Given the description of an element on the screen output the (x, y) to click on. 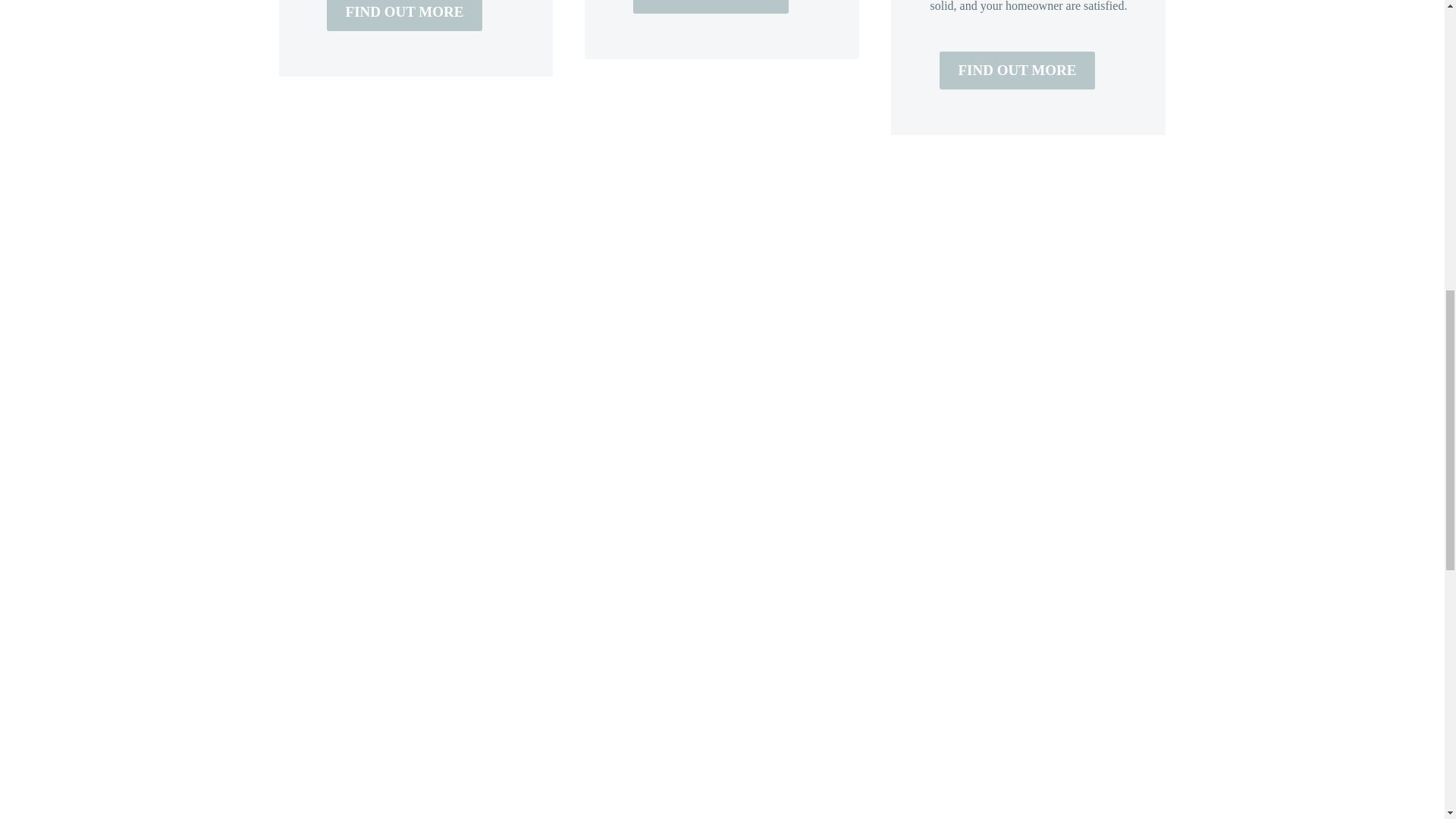
FIND OUT MORE (404, 15)
FIND OUT MORE (711, 6)
FIND OUT MORE (1017, 70)
